Given the description of an element on the screen output the (x, y) to click on. 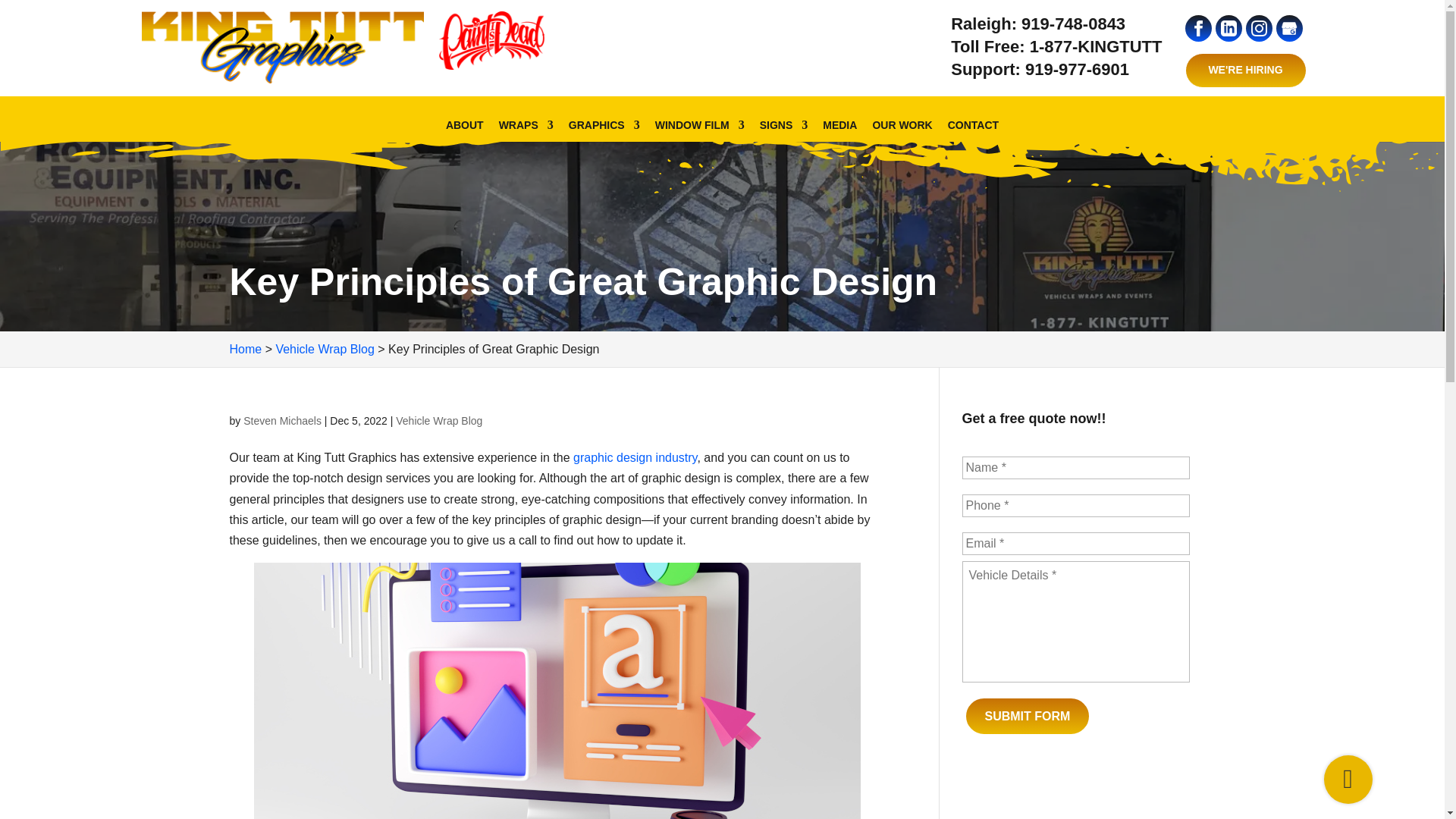
Facebook (1199, 28)
Posts by Steven Michaels (282, 420)
LinkedIn (1227, 28)
Toll Free: 1-877-KINGTUTT (1055, 46)
WE'RE HIRING (1245, 70)
ABOUT (464, 133)
Instagram (1257, 28)
Facebook (1198, 28)
Instagram (1258, 28)
WRAPS (526, 133)
Go to King Tutt Graphics. (245, 349)
Google My Business (1288, 28)
Go to the Vehicle Wrap Blog category archives. (324, 349)
LinkedIn (1228, 28)
Support: 919-977-6901 (1039, 69)
